Given the description of an element on the screen output the (x, y) to click on. 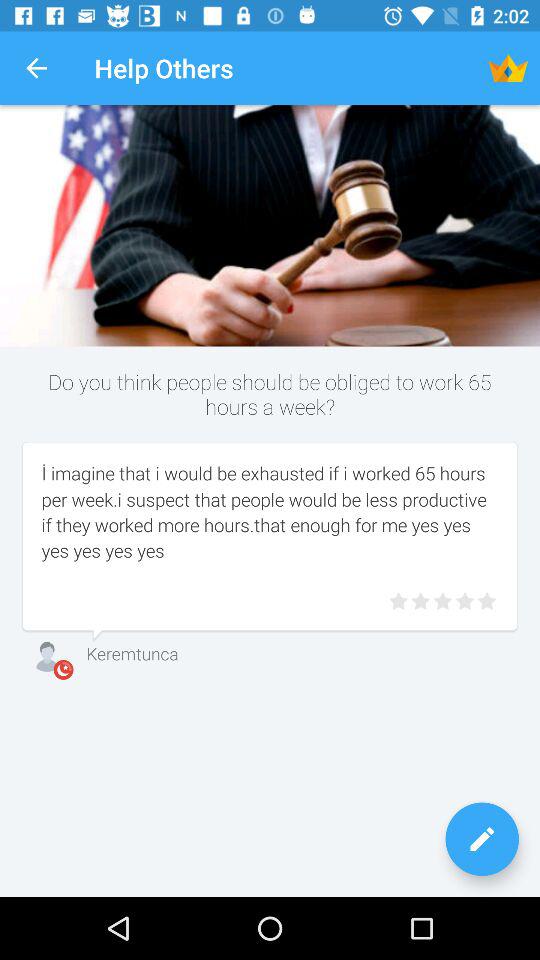
press the app to the left of the help others (36, 68)
